Given the description of an element on the screen output the (x, y) to click on. 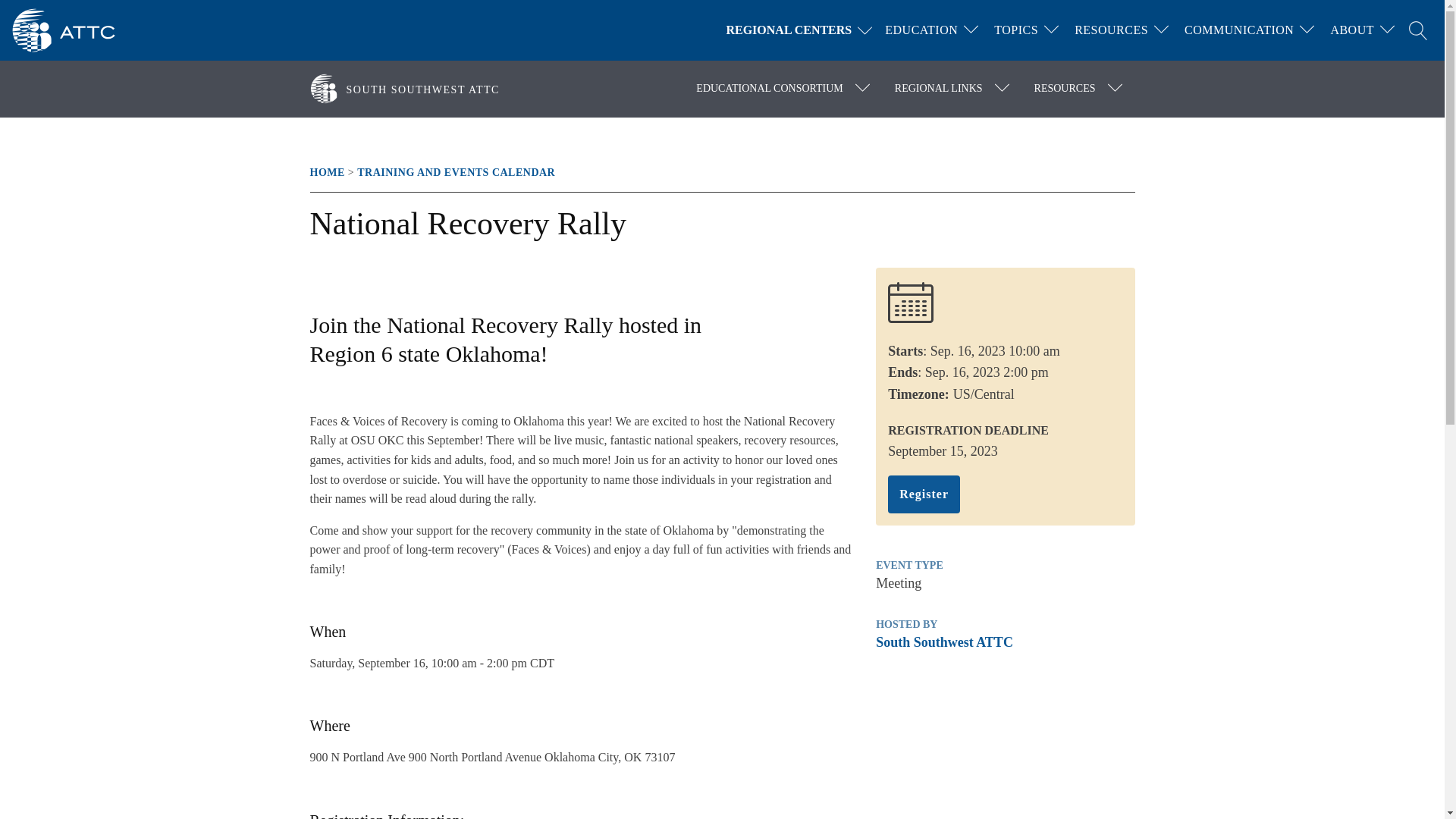
REGIONAL CENTERS (802, 30)
EDUCATION (921, 30)
RESOURCES (1111, 30)
TOPICS (1015, 30)
